Given the description of an element on the screen output the (x, y) to click on. 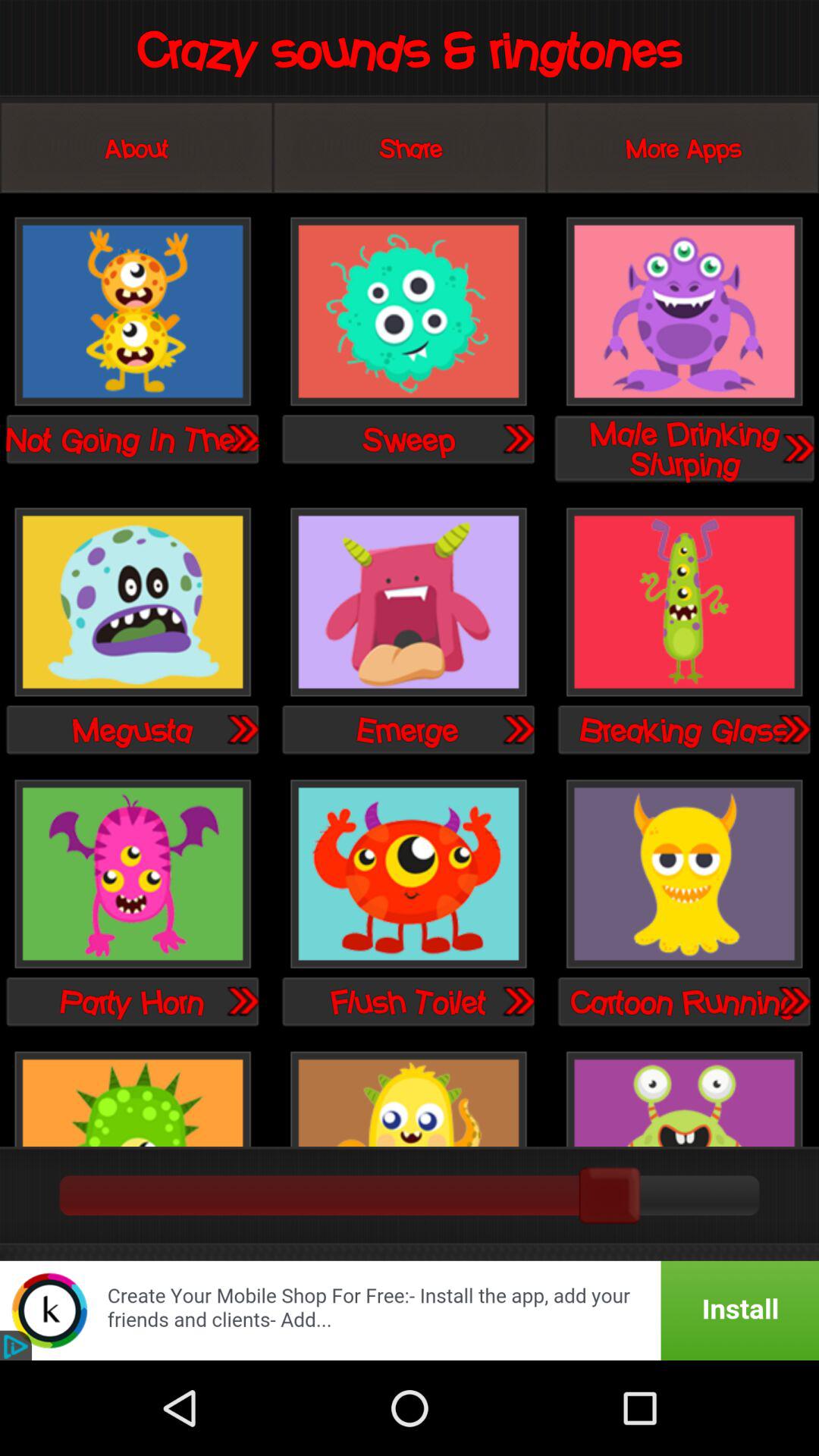
go forword (242, 728)
